Given the description of an element on the screen output the (x, y) to click on. 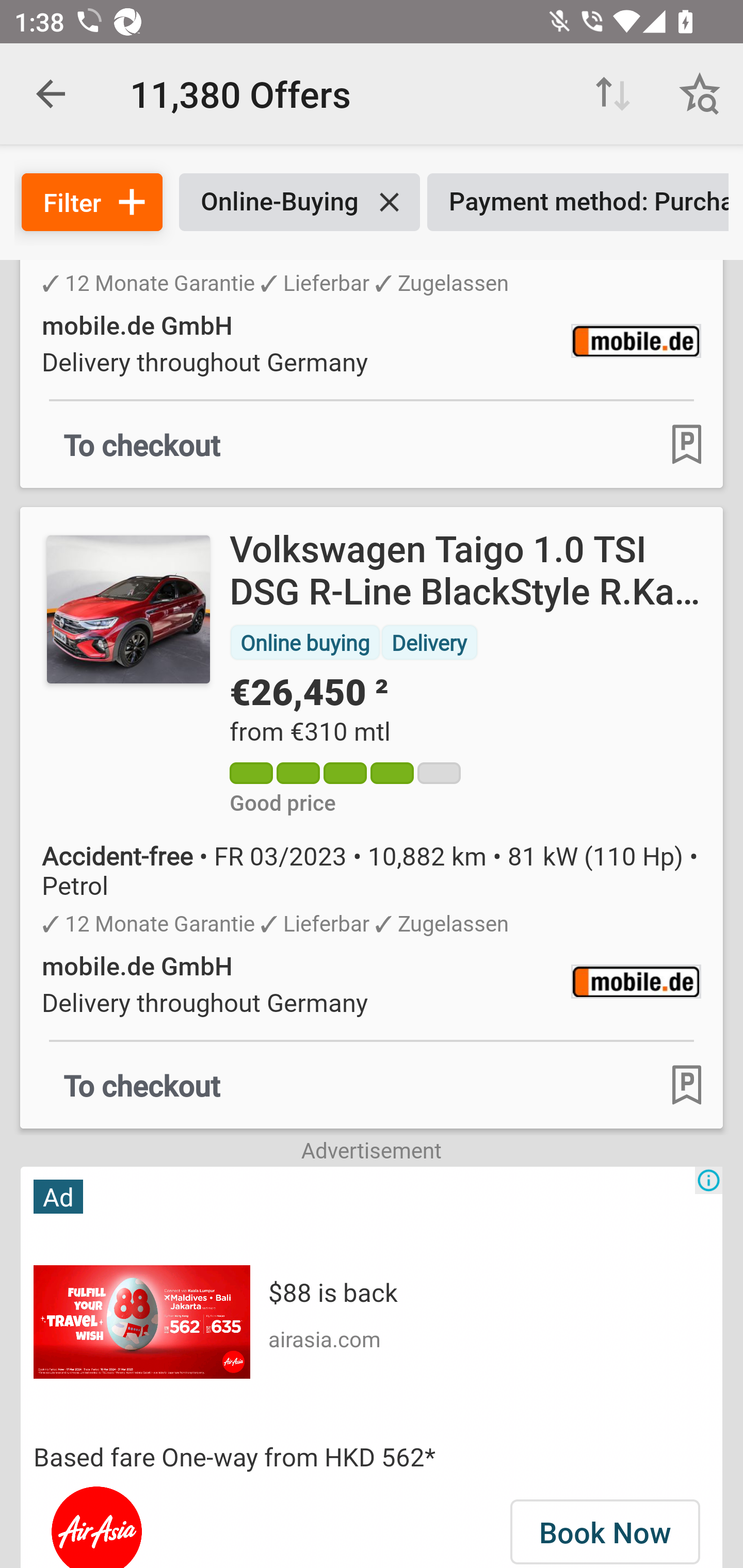
Navigate up (50, 93)
Sort options (612, 93)
Save search (699, 93)
Online-Buying Remove Online-Buying (299, 202)
Payment method: Purchase (577, 202)
Filter (91, 202)
To checkout (142, 444)
To checkout (142, 1084)
Ad Choices Icon (708, 1180)
$88 is back (332, 1291)
airasia.com (324, 1338)
Based fare One-way from HKD 562* (371, 1456)
Book Now (604, 1528)
